Given the description of an element on the screen output the (x, y) to click on. 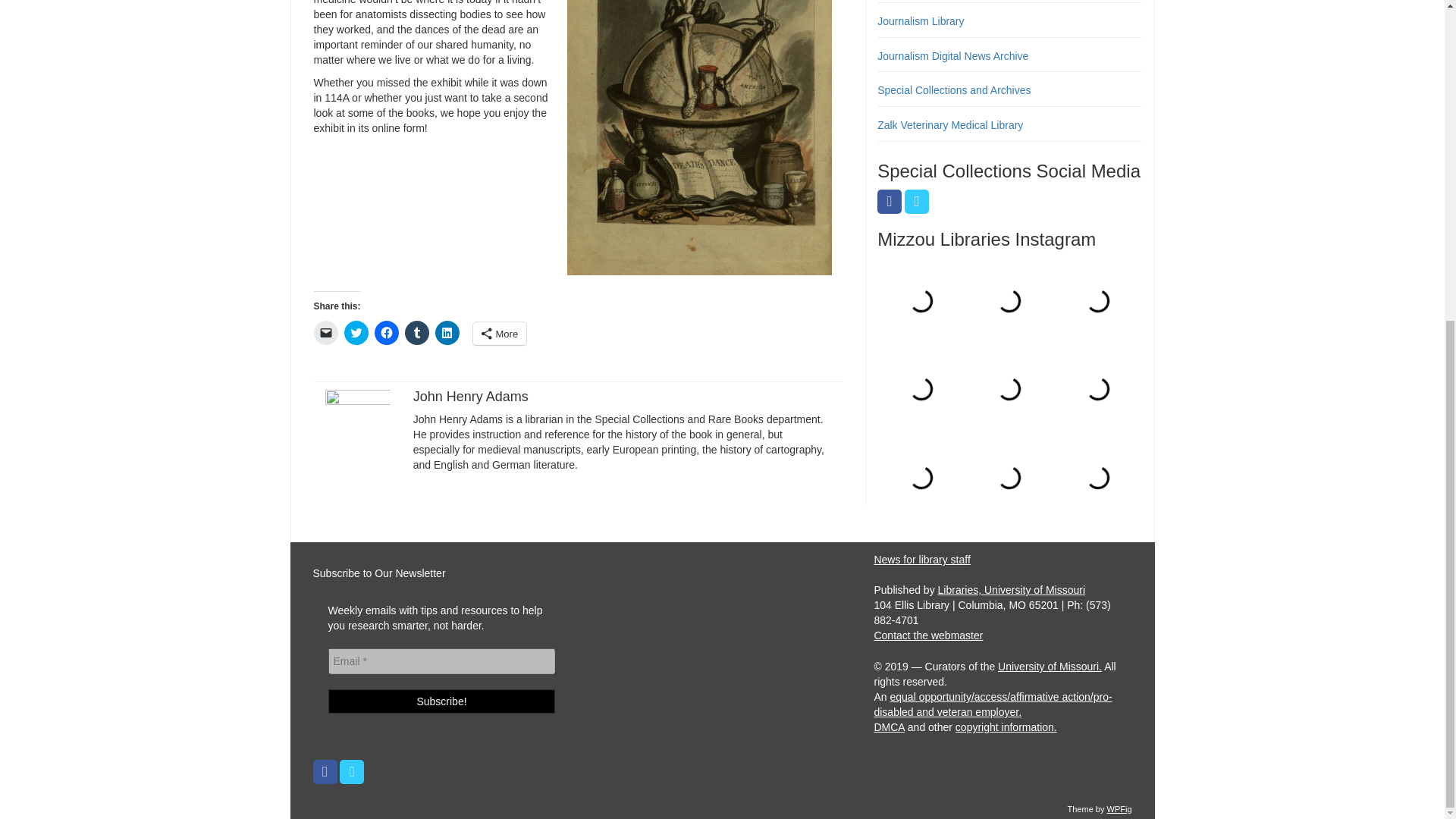
Click to share on Twitter (355, 332)
Click to share on LinkedIn (447, 332)
Email (440, 661)
Click to share on Facebook (386, 332)
Click to share on Tumblr (416, 332)
More (500, 333)
Click to email a link to a friend (325, 332)
Subscribe! (440, 701)
